Given the description of an element on the screen output the (x, y) to click on. 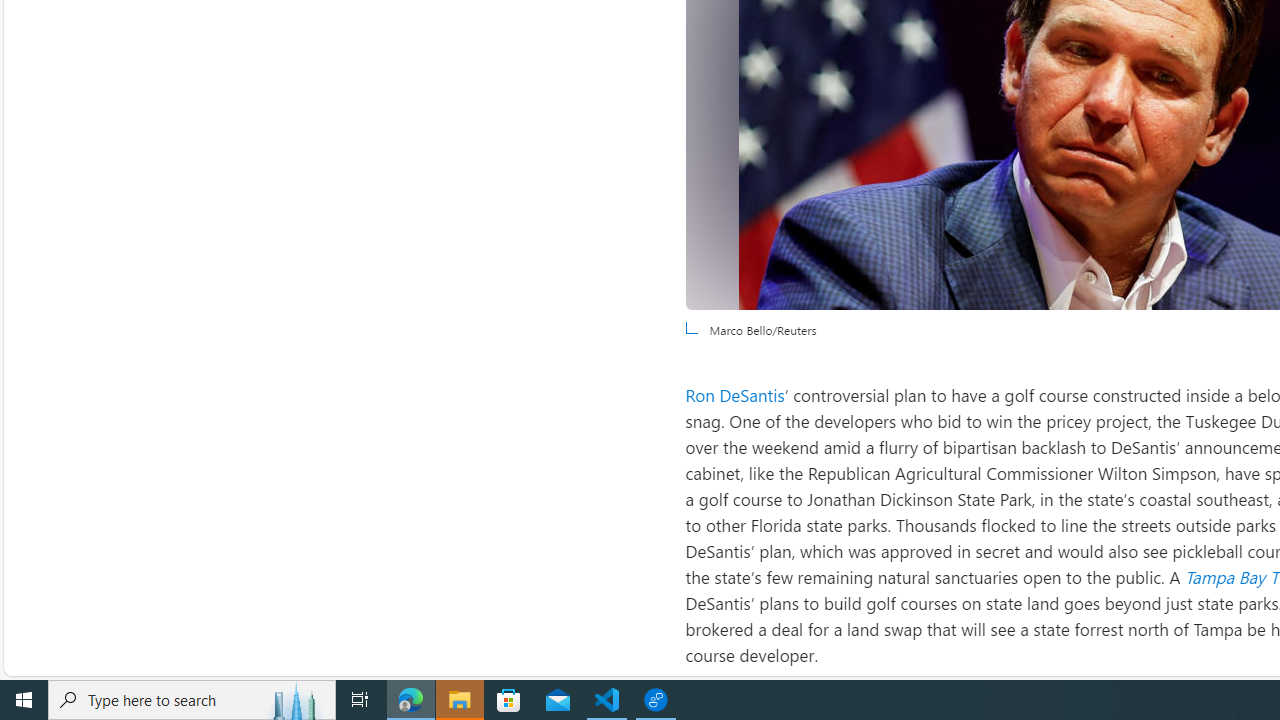
Ron DeSantis (734, 394)
